Given the description of an element on the screen output the (x, y) to click on. 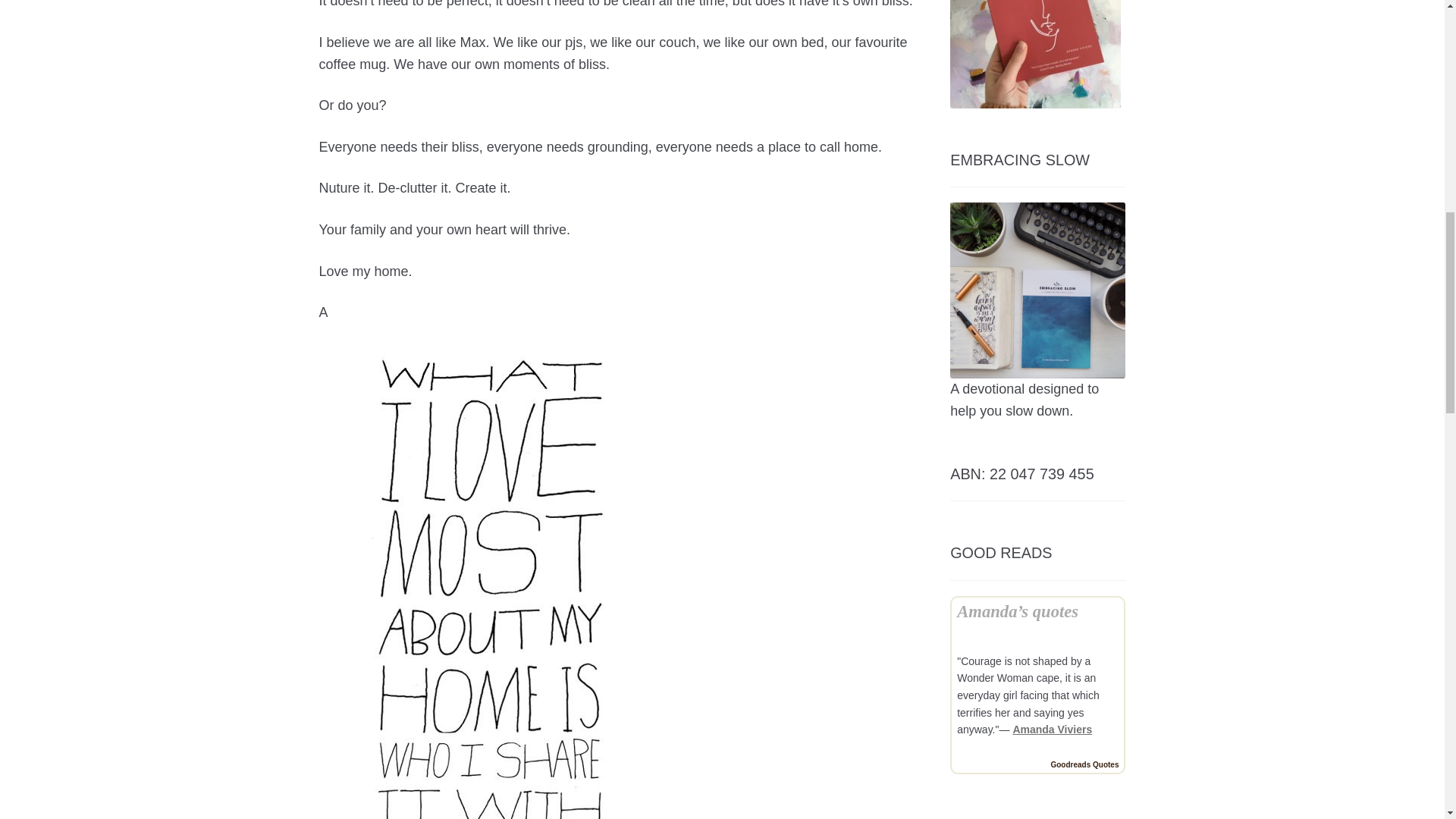
EMBRACING SLOW (1037, 289)
Amanda Viviers quotes (1051, 729)
DEAR CREATIVE SELF (1035, 54)
